Given the description of an element on the screen output the (x, y) to click on. 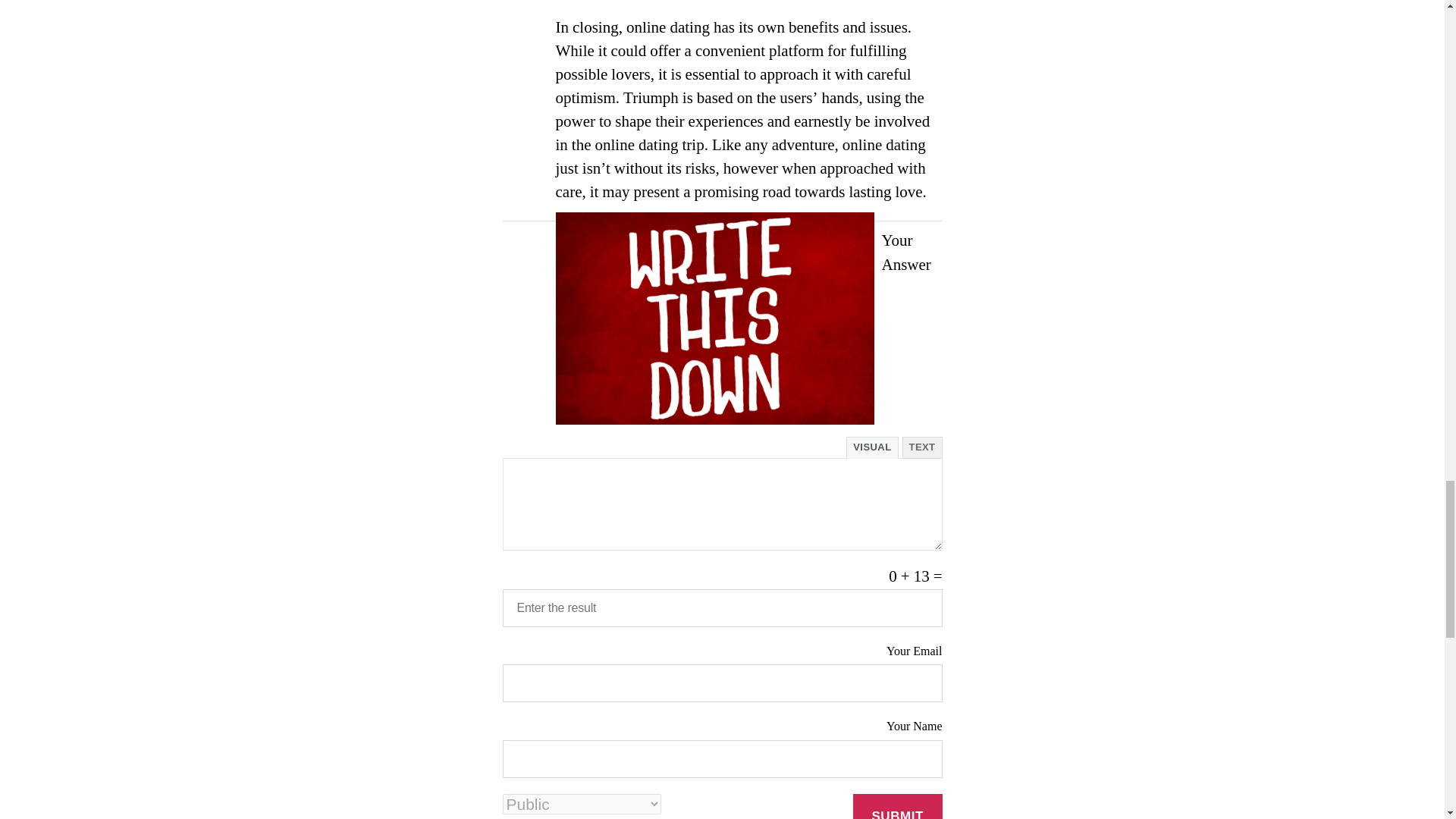
VISUAL (871, 447)
Submit (897, 806)
Submit (897, 806)
TEXT (922, 447)
